Given the description of an element on the screen output the (x, y) to click on. 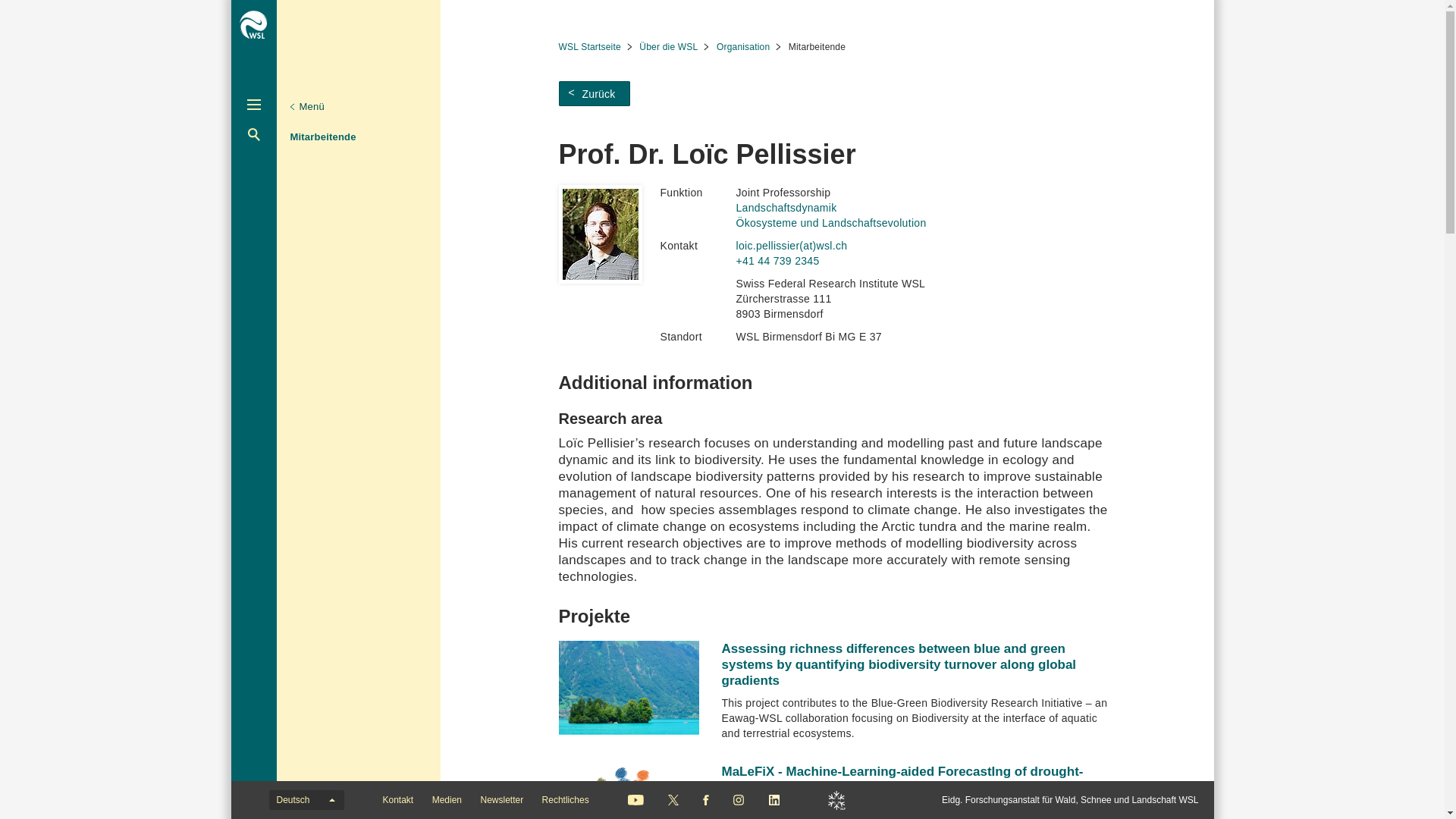
Suche (253, 133)
Suche (253, 133)
Sprache wechseln (305, 799)
Twitter (672, 799)
Youtube (635, 799)
Organisation (450, 132)
Organisation (748, 47)
WSL Startseite (594, 47)
